Given the description of an element on the screen output the (x, y) to click on. 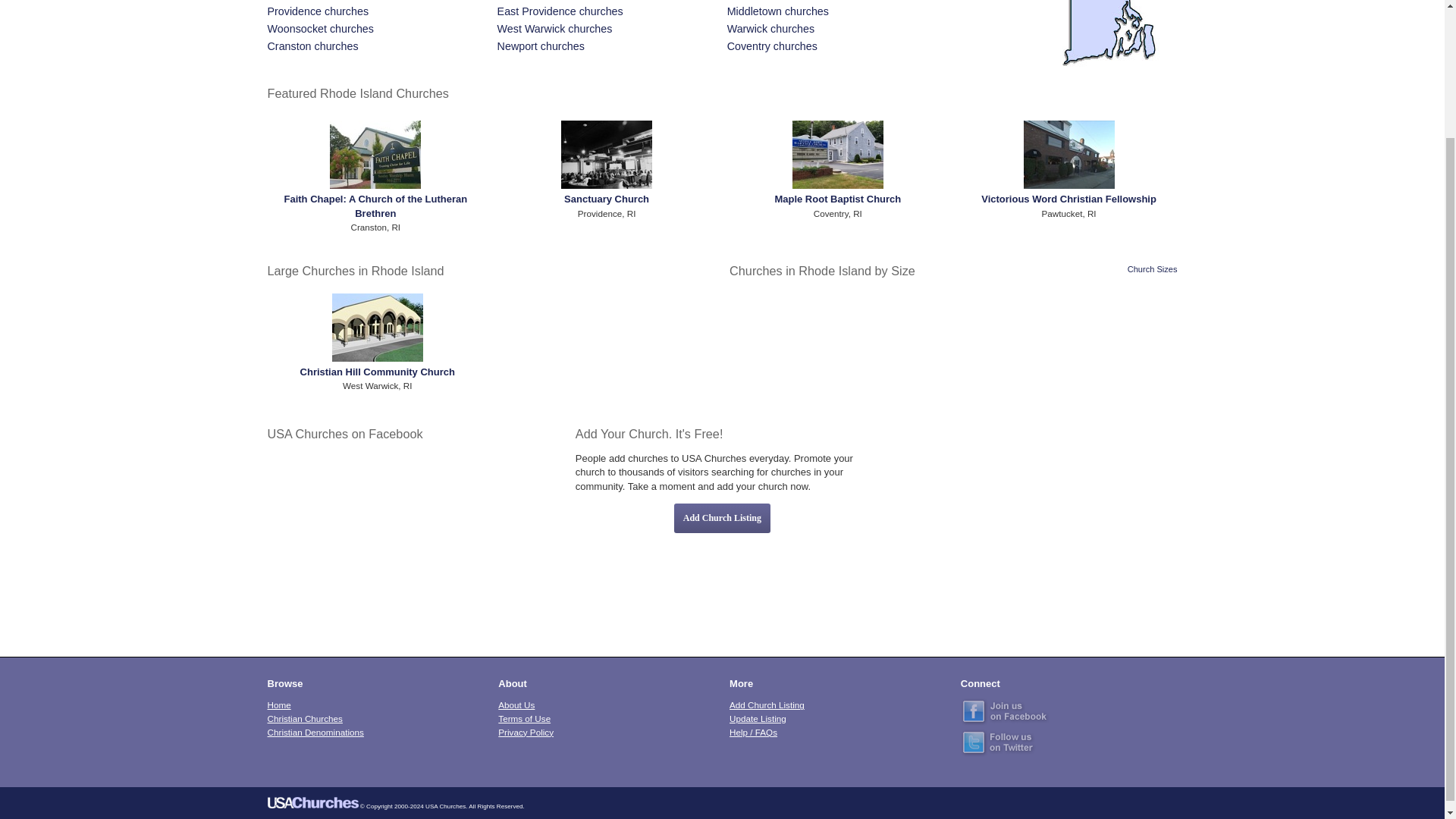
Middletown churches (777, 10)
West Warwick churches (554, 28)
Newport churches (541, 46)
Advertisement (1029, 531)
Terms of Use (523, 718)
Victorious Word Christian Fellowship (1068, 198)
Add Church Listing (767, 705)
Woonsocket churches (320, 28)
Church Sizes (1151, 268)
Sanctuary Church (606, 198)
Add Church Listing (722, 518)
Maple Root Baptist Church (837, 198)
Christian Churches (304, 718)
Faith Chapel: A Church of the Lutheran Brethren (375, 205)
Warwick churches (769, 28)
